Given the description of an element on the screen output the (x, y) to click on. 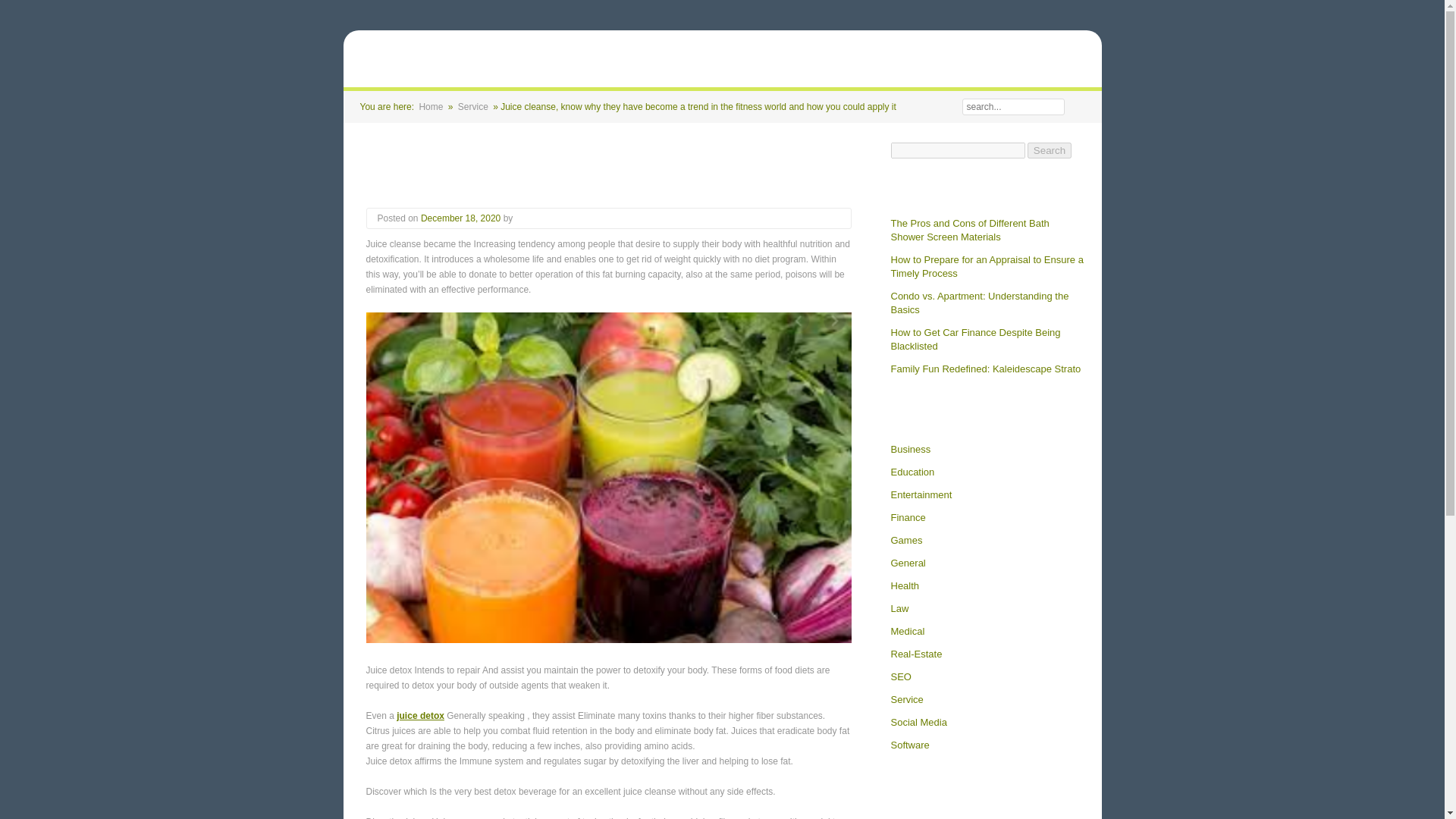
Finance (906, 517)
SEO (900, 676)
Search (1075, 106)
Search (1049, 150)
Health (903, 585)
Real-Estate (915, 653)
Service (472, 106)
Business (909, 449)
Home (430, 106)
Education (911, 472)
Software (908, 745)
Entertainment (920, 495)
Service (906, 699)
Games (905, 540)
Family Fun Redefined: Kaleidescape Strato (984, 368)
